Given the description of an element on the screen output the (x, y) to click on. 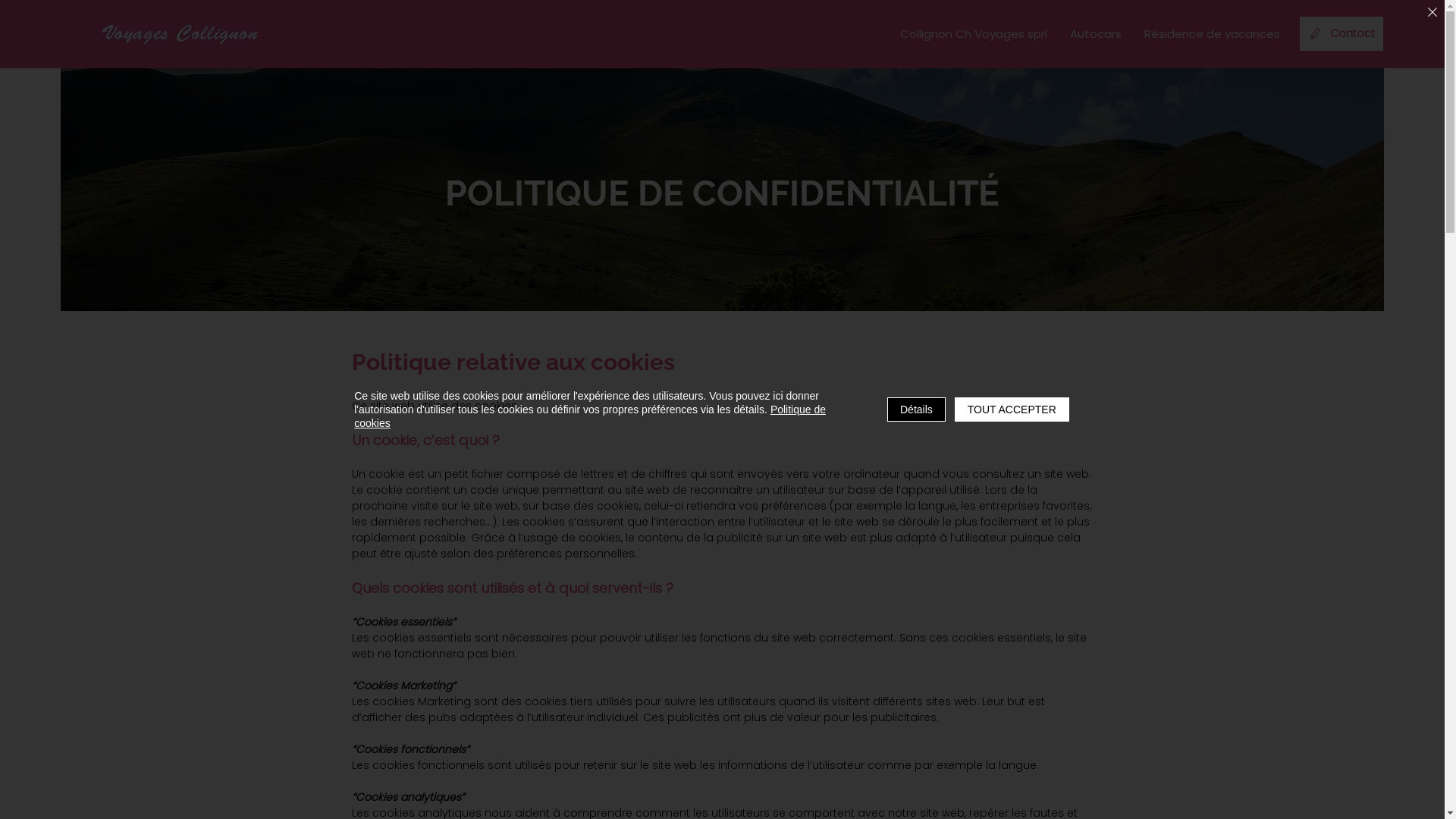
Contact Element type: text (1341, 33)
Politique de cookies Element type: text (589, 416)
Collignon Ch Voyages sprl Element type: text (973, 34)
Autocars Element type: text (1095, 34)
TOUT ACCEPTER Element type: text (1011, 409)
